Given the description of an element on the screen output the (x, y) to click on. 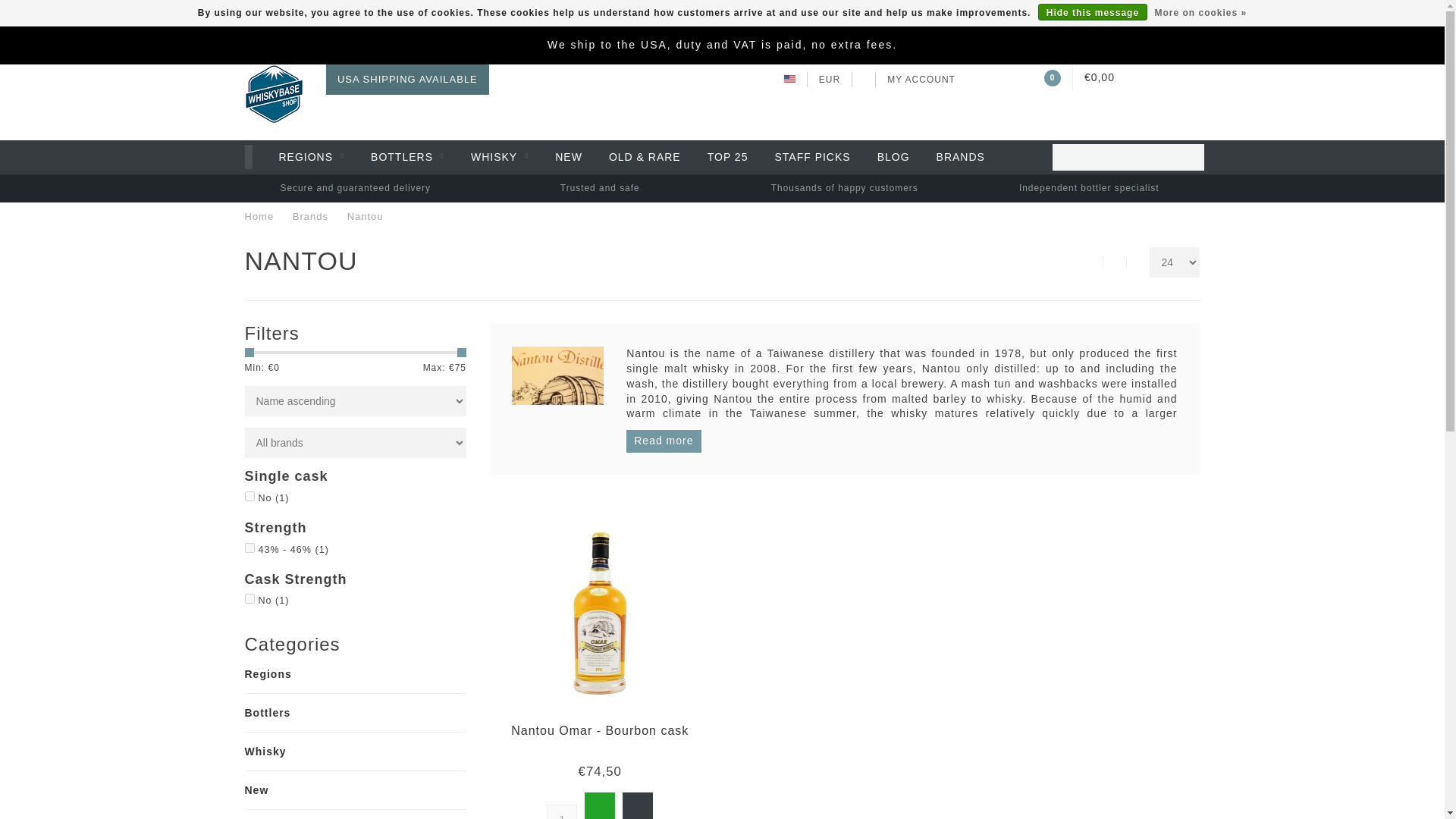
REGIONS (312, 157)
406769 (248, 547)
406742 (248, 598)
Nantou Nantou Omar - Bourbon cask (599, 730)
MY ACCOUNT (920, 79)
More on cookies (1200, 13)
Hide this message (1092, 12)
EUR (829, 79)
406763 (248, 496)
We ship to the USA, duty and VAT is paid, no extra fees. (721, 44)
